Given the description of an element on the screen output the (x, y) to click on. 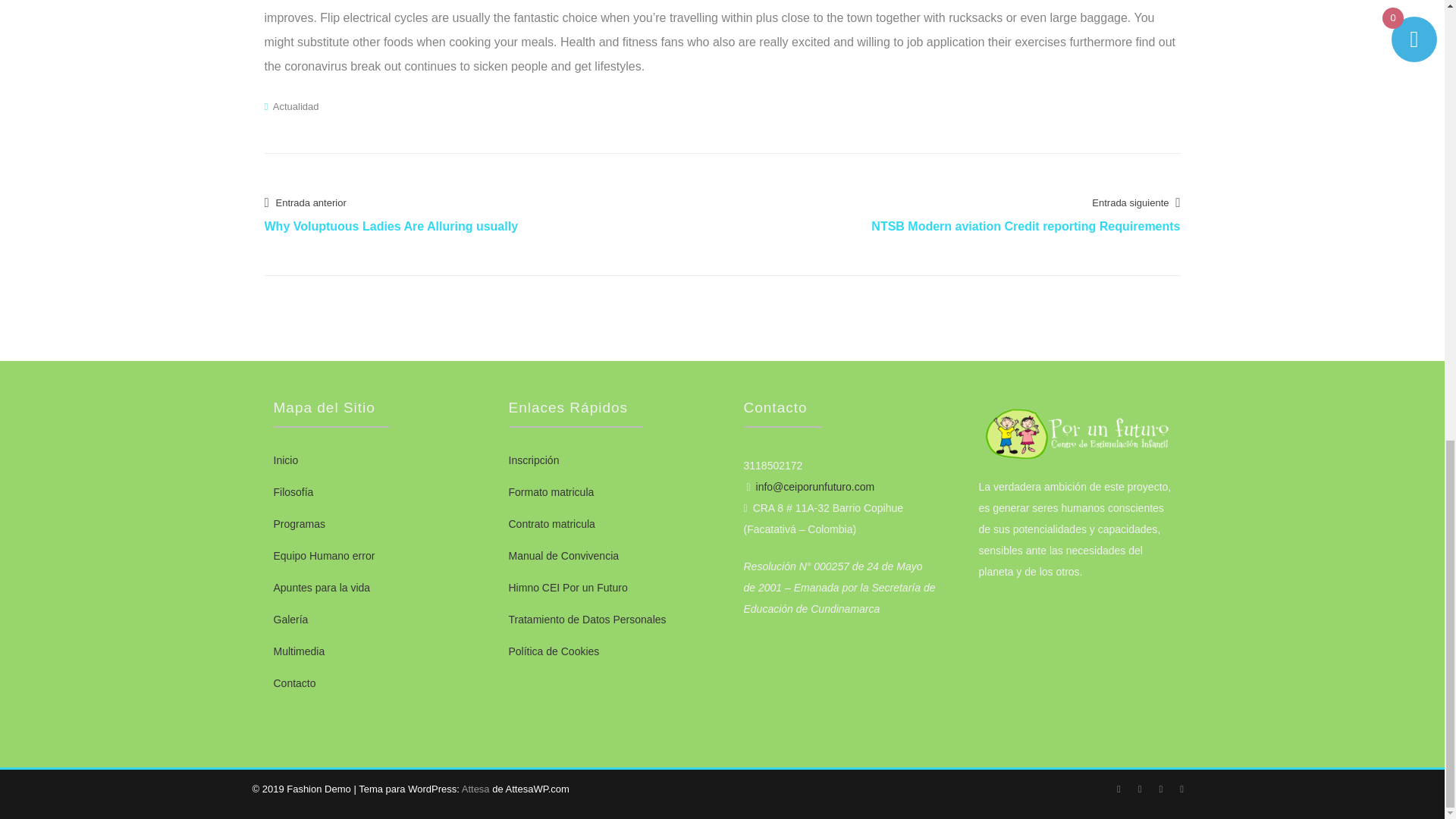
Actualidad (295, 106)
Contrato matricula (551, 523)
Instagram (1139, 788)
Contacto (294, 683)
Multimedia (298, 651)
Twitter (1118, 788)
Pinterest (1181, 788)
Equipo Humano error (323, 555)
